Given the description of an element on the screen output the (x, y) to click on. 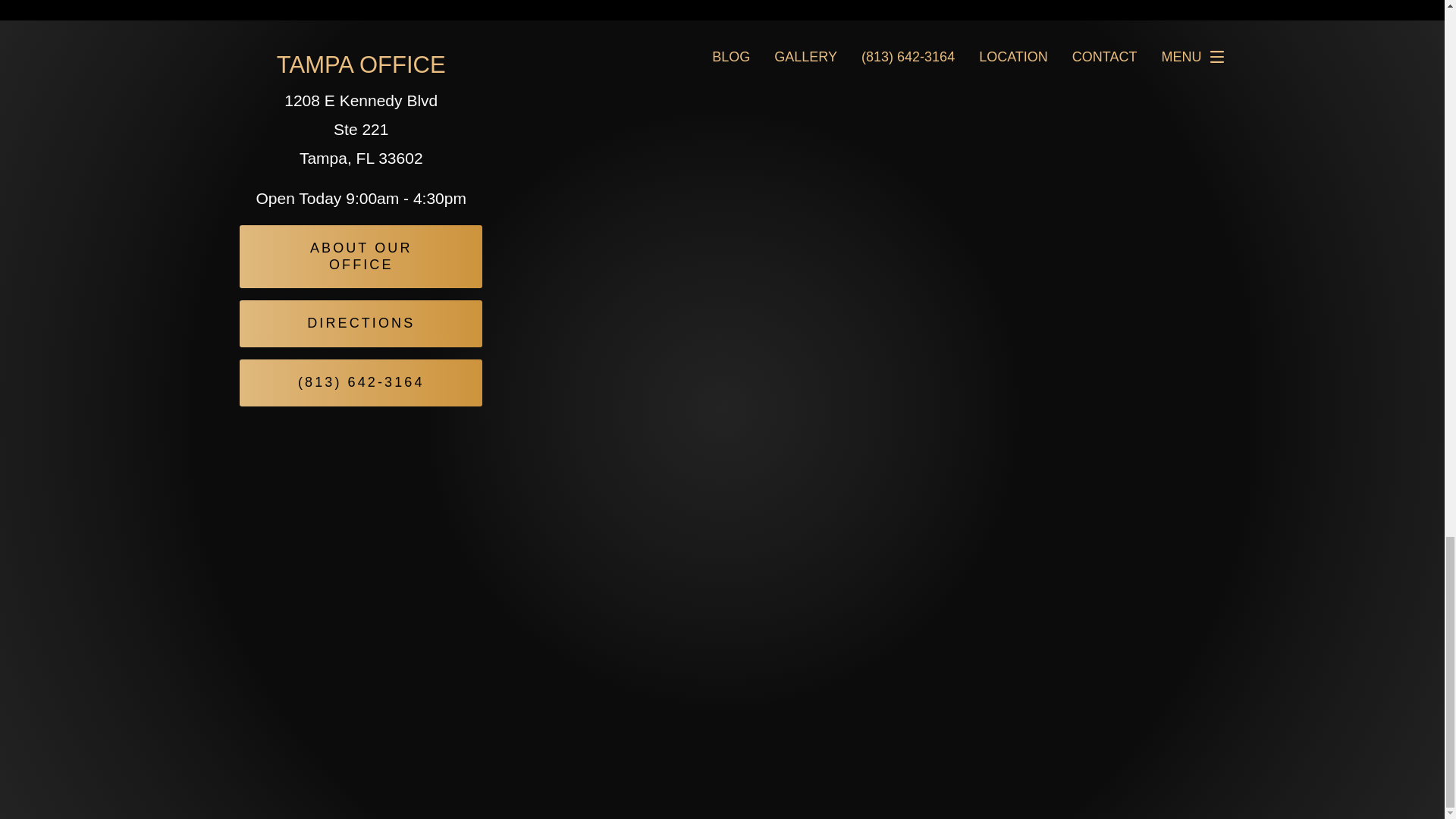
Locations (1072, 33)
ABOUT OUR OFFICE (360, 256)
DIRECTIONS (360, 323)
TAMPA OFFICE (360, 64)
